Given the description of an element on the screen output the (x, y) to click on. 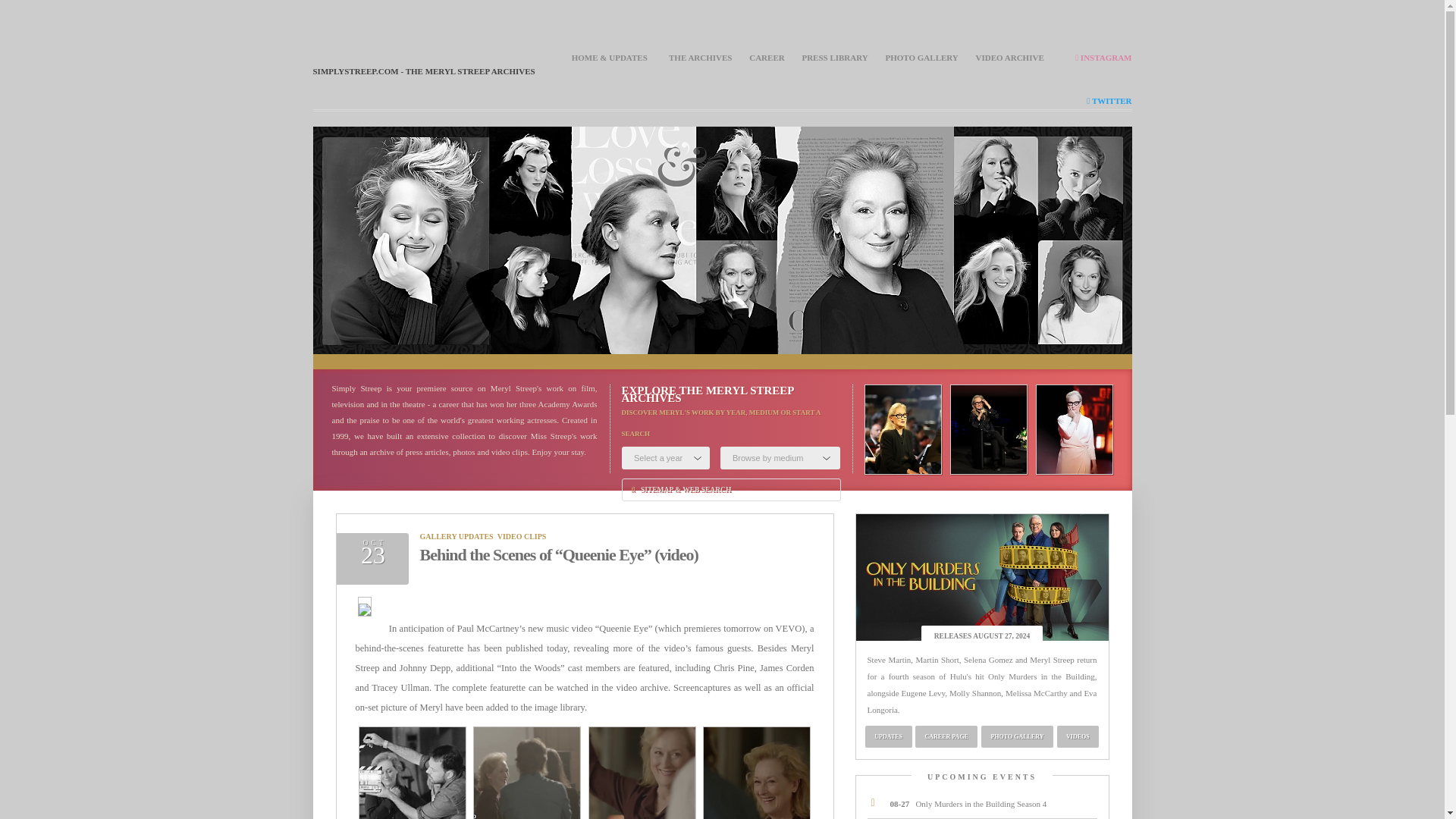
VIDEO CLIPS (522, 536)
INSTAGRAM (1103, 57)
VIDEOS (1077, 735)
PRESS LIBRARY (834, 57)
PHOTO GALLERY (1016, 735)
CAREER PAGE (946, 735)
GALLERY UPDATES (456, 536)
THE ARCHIVES (700, 57)
PHOTO GALLERY (921, 57)
UPDATES (888, 735)
